Given the description of an element on the screen output the (x, y) to click on. 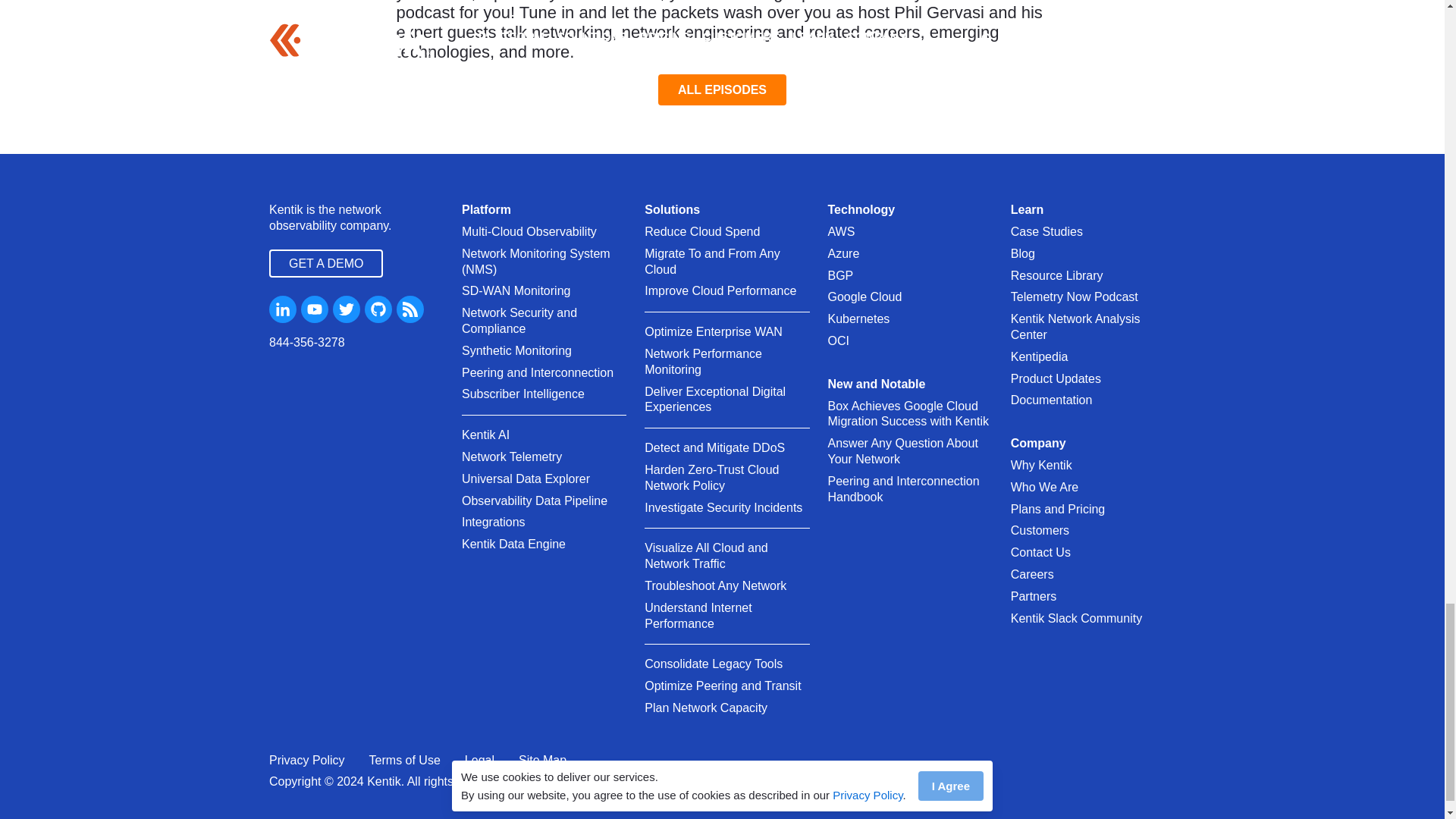
Network Telemetry (511, 457)
Kentik Data Engine (513, 544)
Github (378, 308)
Peering and Interconnection (536, 373)
Observability Data Pipeline (534, 501)
SD-WAN Monitoring (515, 291)
GET A DEMO (325, 263)
Kentik is the network observability company. (356, 218)
Youtube (315, 308)
Network Security and Compliance (543, 321)
Multi-Cloud Observability (528, 232)
Integrations (493, 522)
Network Observability by Kentik (356, 218)
podcasts (717, 196)
Subscriber Intelligence (523, 394)
